Given the description of an element on the screen output the (x, y) to click on. 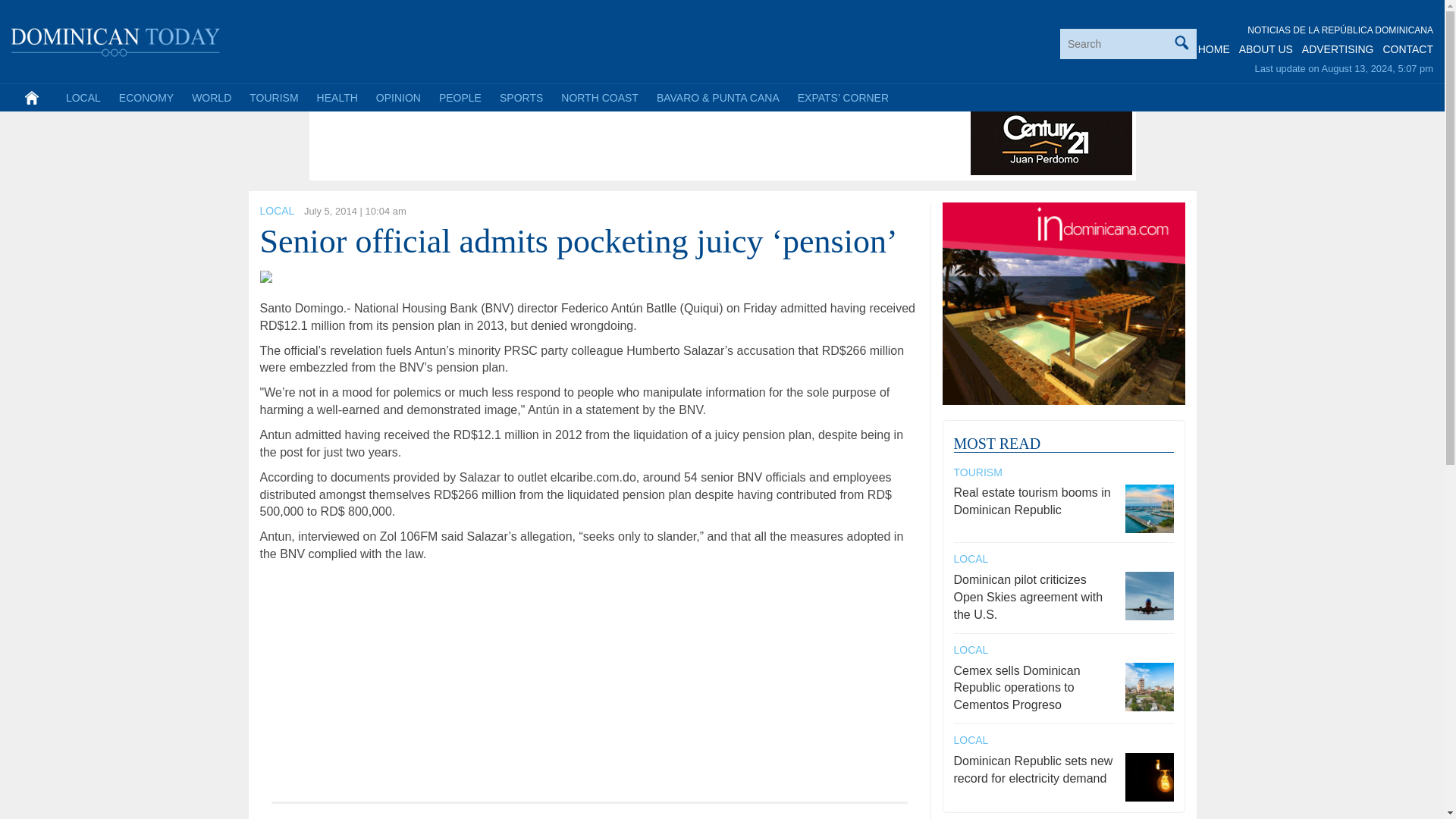
LOCAL (83, 97)
SPORTS (520, 97)
ABOUT US (1265, 49)
NORTH COAST (599, 97)
CONTACT (1406, 49)
ADVERTISING (1337, 49)
WORLD (211, 97)
TOURISM (273, 97)
